Given the description of an element on the screen output the (x, y) to click on. 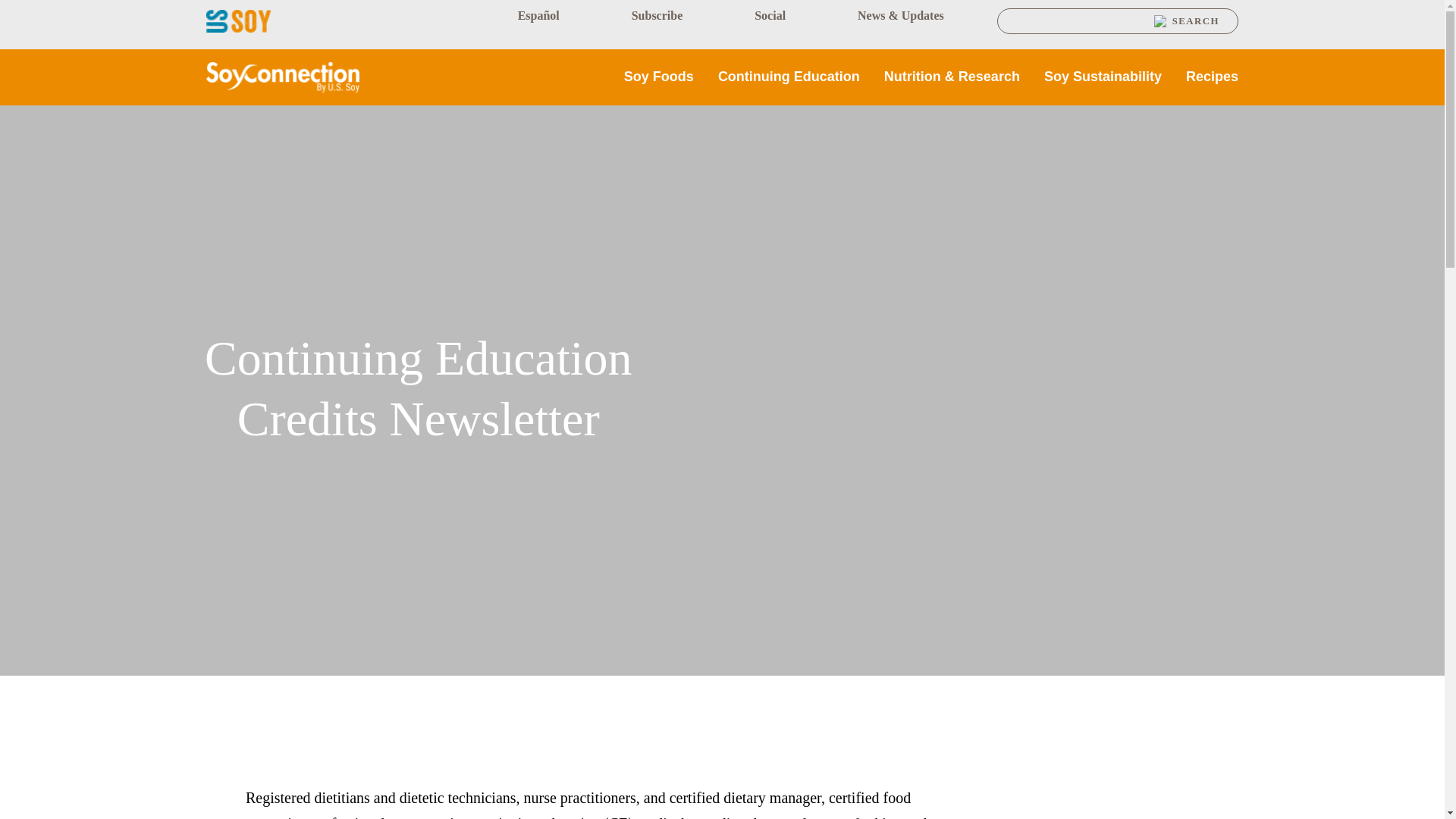
Soy Sustainability (1102, 77)
Continuing Education (788, 77)
Recipes (1212, 77)
Search input (1081, 21)
Subscribe (656, 15)
Soy Foods (659, 77)
